Given the description of an element on the screen output the (x, y) to click on. 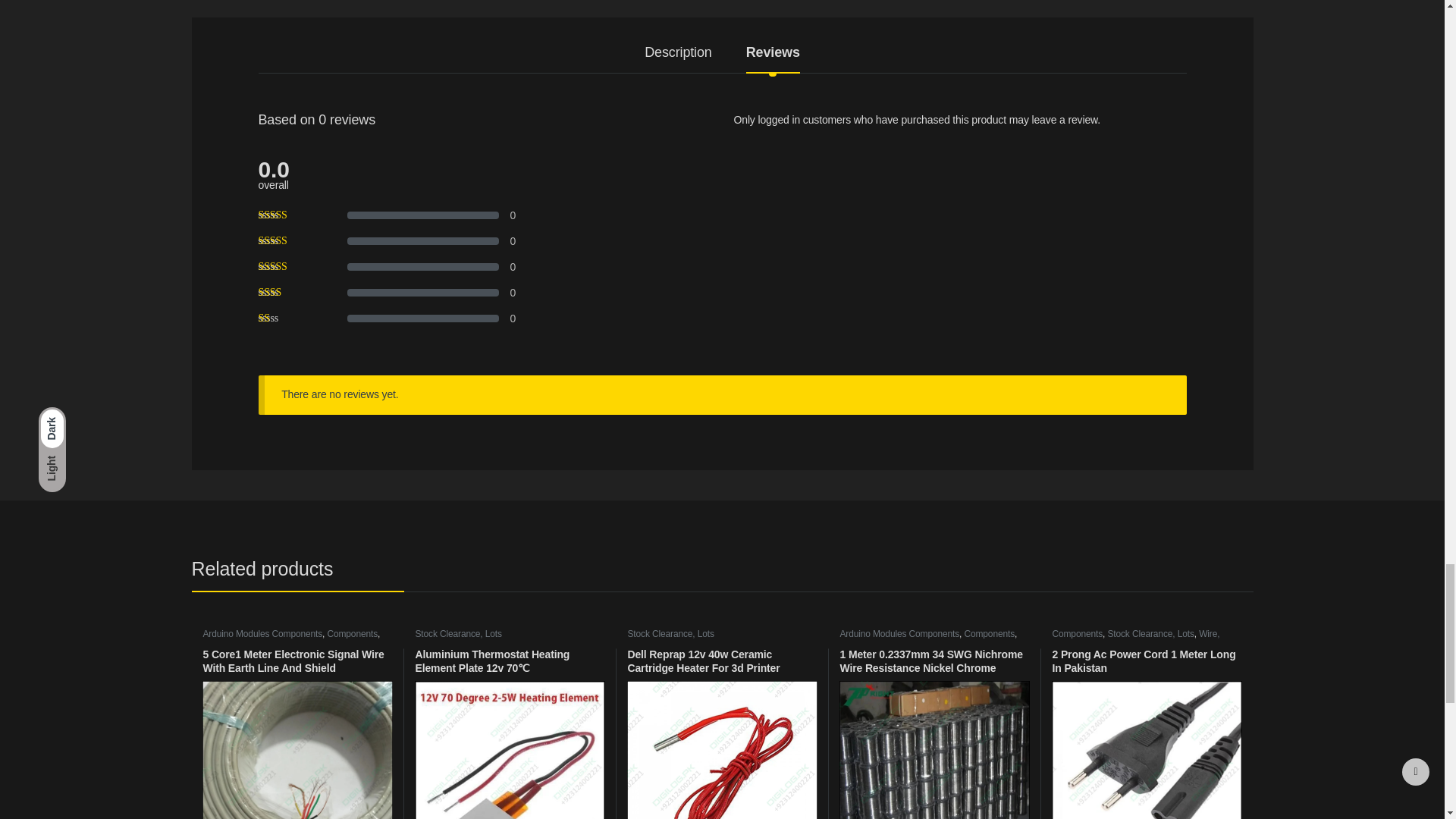
Rated 3 out of 5 (286, 266)
Rated 2 out of 5 (286, 292)
Rated 4 out of 5 (286, 240)
Rated 1 out of 5 (286, 317)
Rated 5 out of 5 (286, 214)
